Given the description of an element on the screen output the (x, y) to click on. 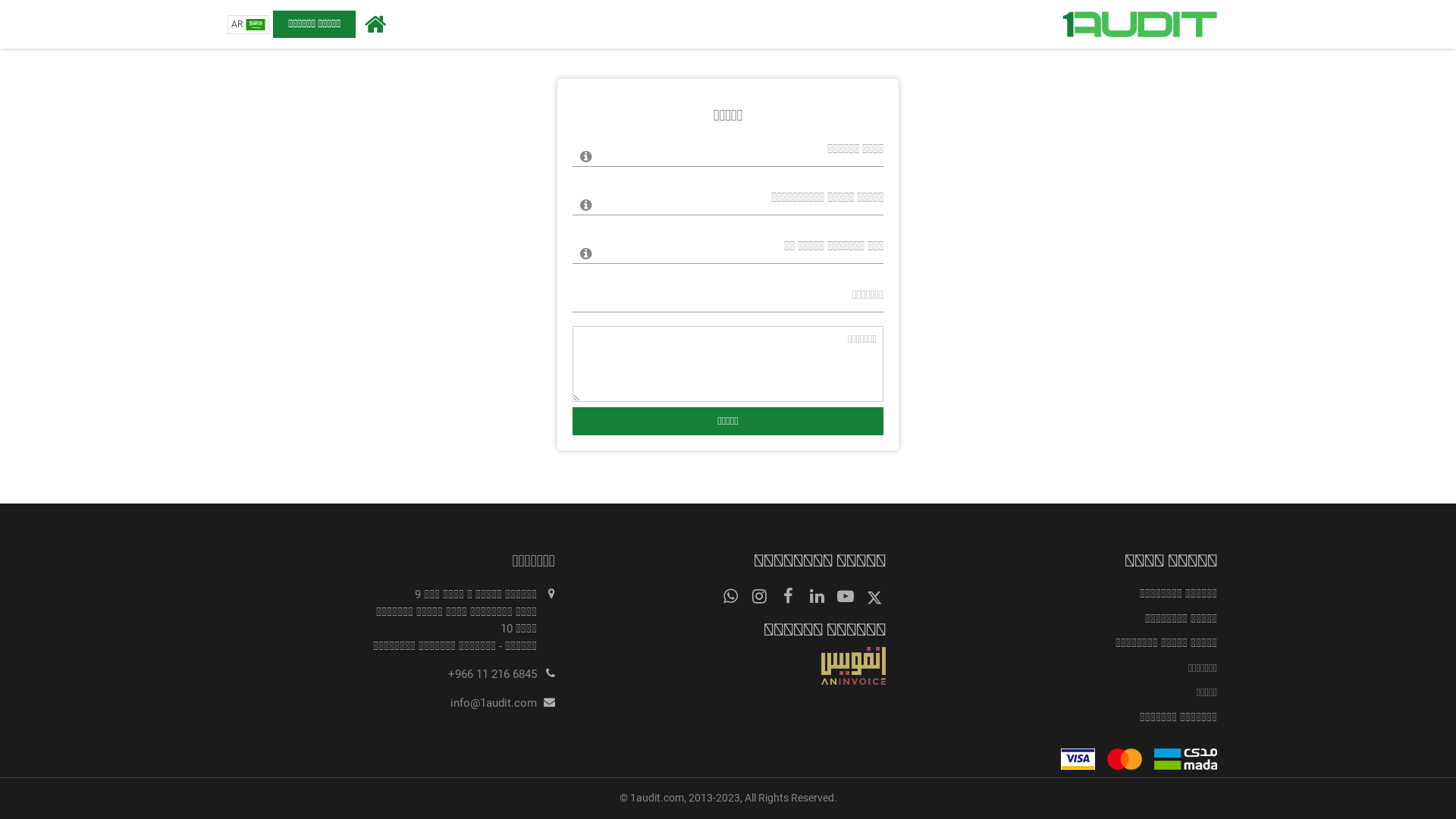
Instagram Element type: hover (758, 596)
+966 11 216 6845 Element type: text (492, 673)
info@1audit.com Element type: text (493, 702)
YouTube Element type: hover (845, 596)
whatsApp Element type: hover (729, 596)
twitter / X Element type: hover (873, 596)
LinkedIn Element type: hover (816, 596)
aninvoice.com Element type: hover (728, 665)
facebook Element type: hover (787, 596)
